Given the description of an element on the screen output the (x, y) to click on. 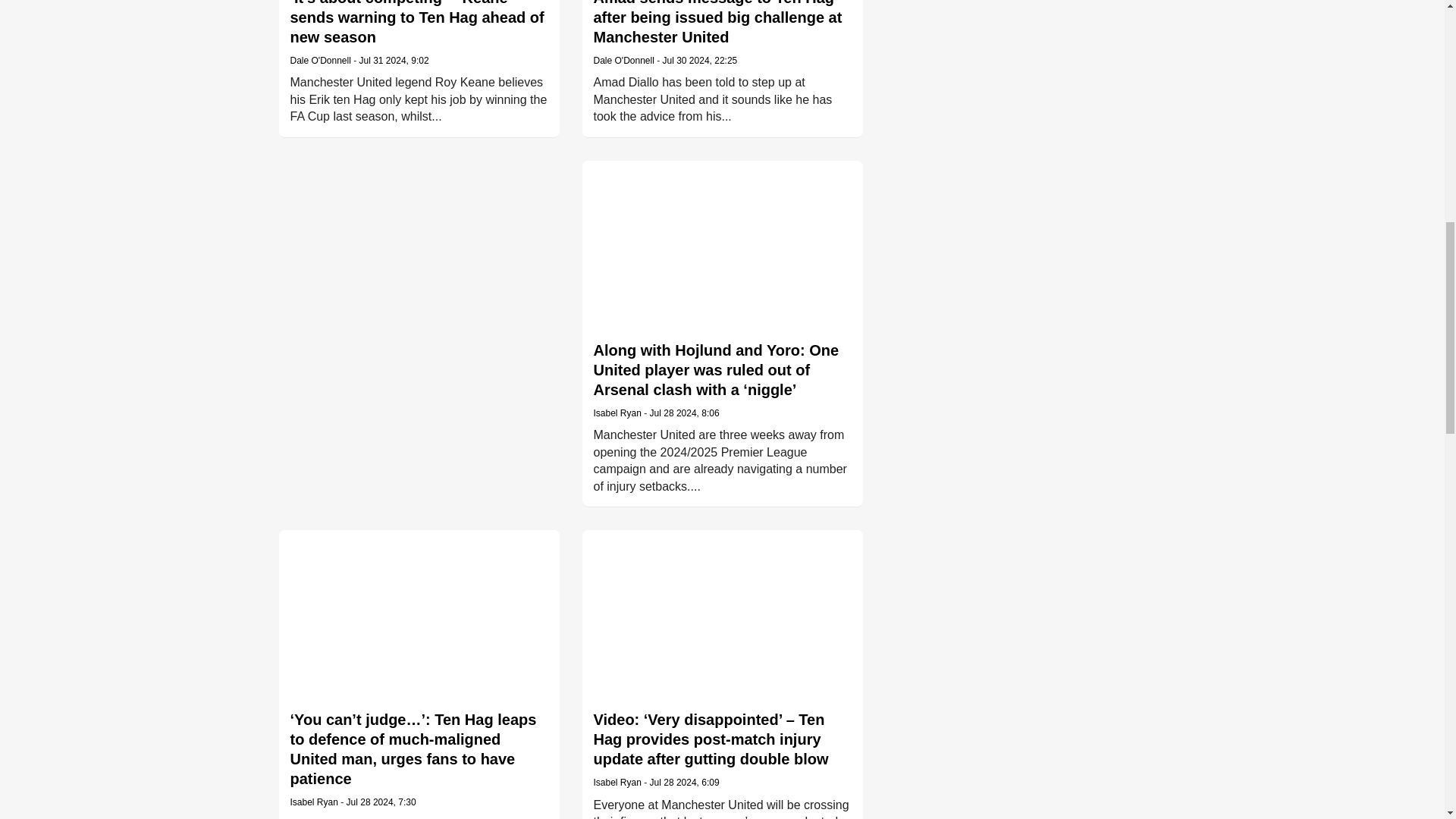
Jul 28 2024, 8:06 (684, 412)
Dale O'Donnell (319, 60)
Dale O'Donnell (622, 60)
Jul 30 2024, 22:25 (700, 60)
Jul 28 2024, 7:30 (381, 801)
Isabel Ryan (616, 412)
Jul 31 2024, 9:02 (394, 60)
Isabel Ryan (313, 801)
